Given the description of an element on the screen output the (x, y) to click on. 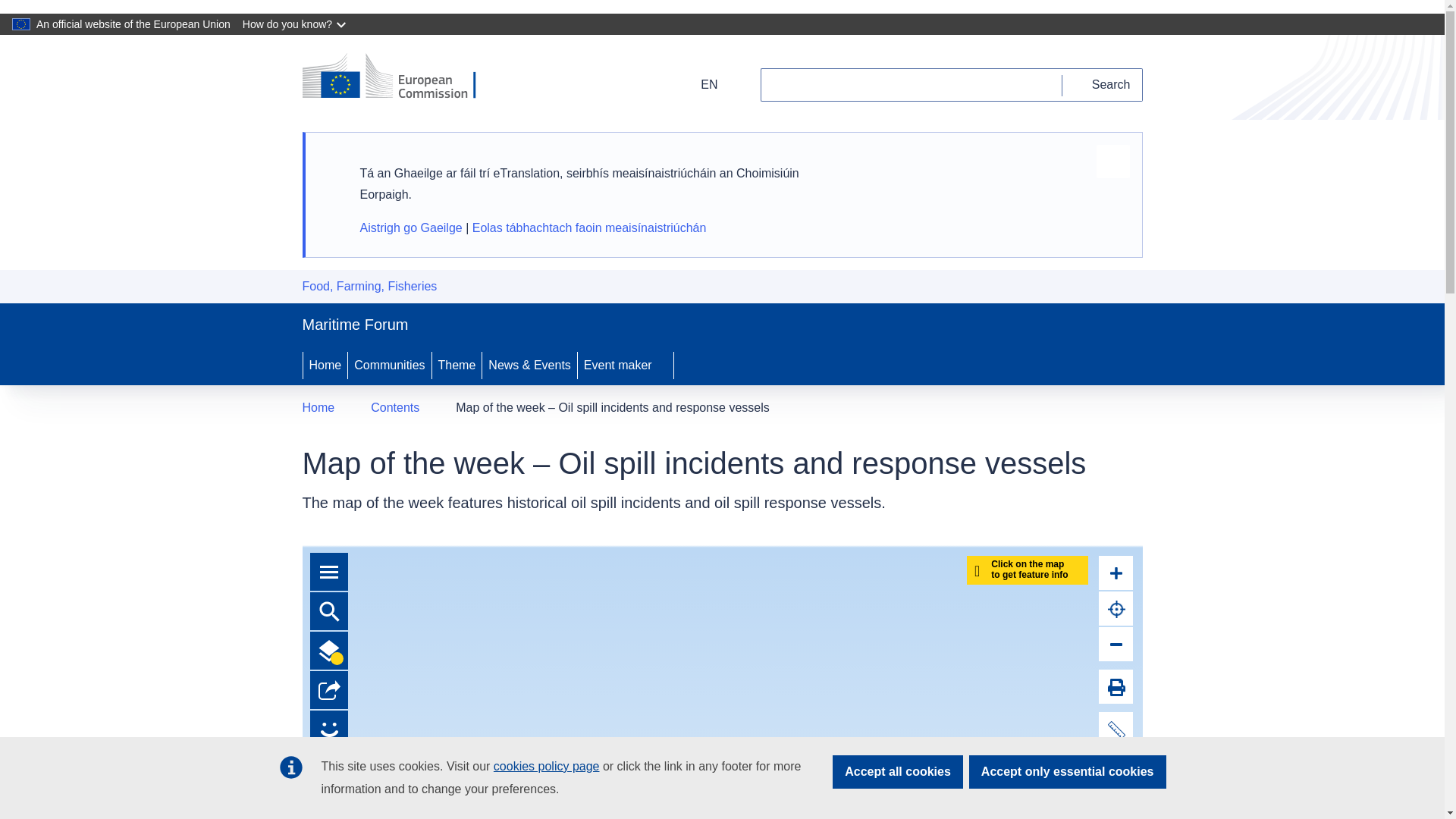
Food, Farming, Fisheries (368, 286)
cookies policy page (546, 766)
Home (317, 407)
European Commission (399, 77)
Event maker (625, 364)
Home (324, 364)
Accept only essential cookies (1067, 771)
Accept all cookies (897, 771)
How do you know? (295, 24)
Search (1102, 84)
Theme (456, 364)
Aistrigh go Gaeilge (410, 227)
EN (699, 84)
Communities (388, 364)
